Given the description of an element on the screen output the (x, y) to click on. 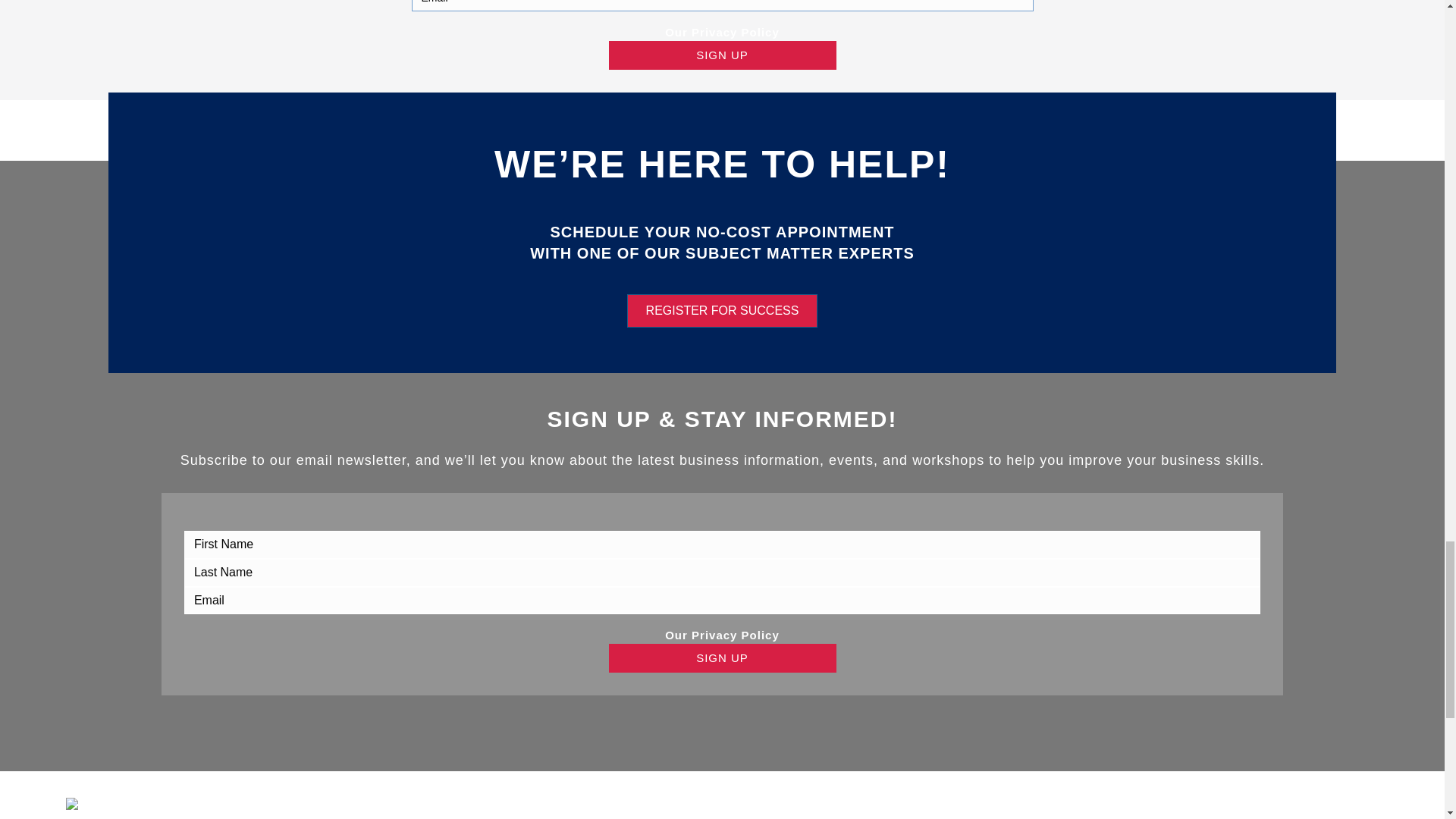
favicon (122, 803)
Sign Up (721, 54)
Sign Up (721, 657)
